Given the description of an element on the screen output the (x, y) to click on. 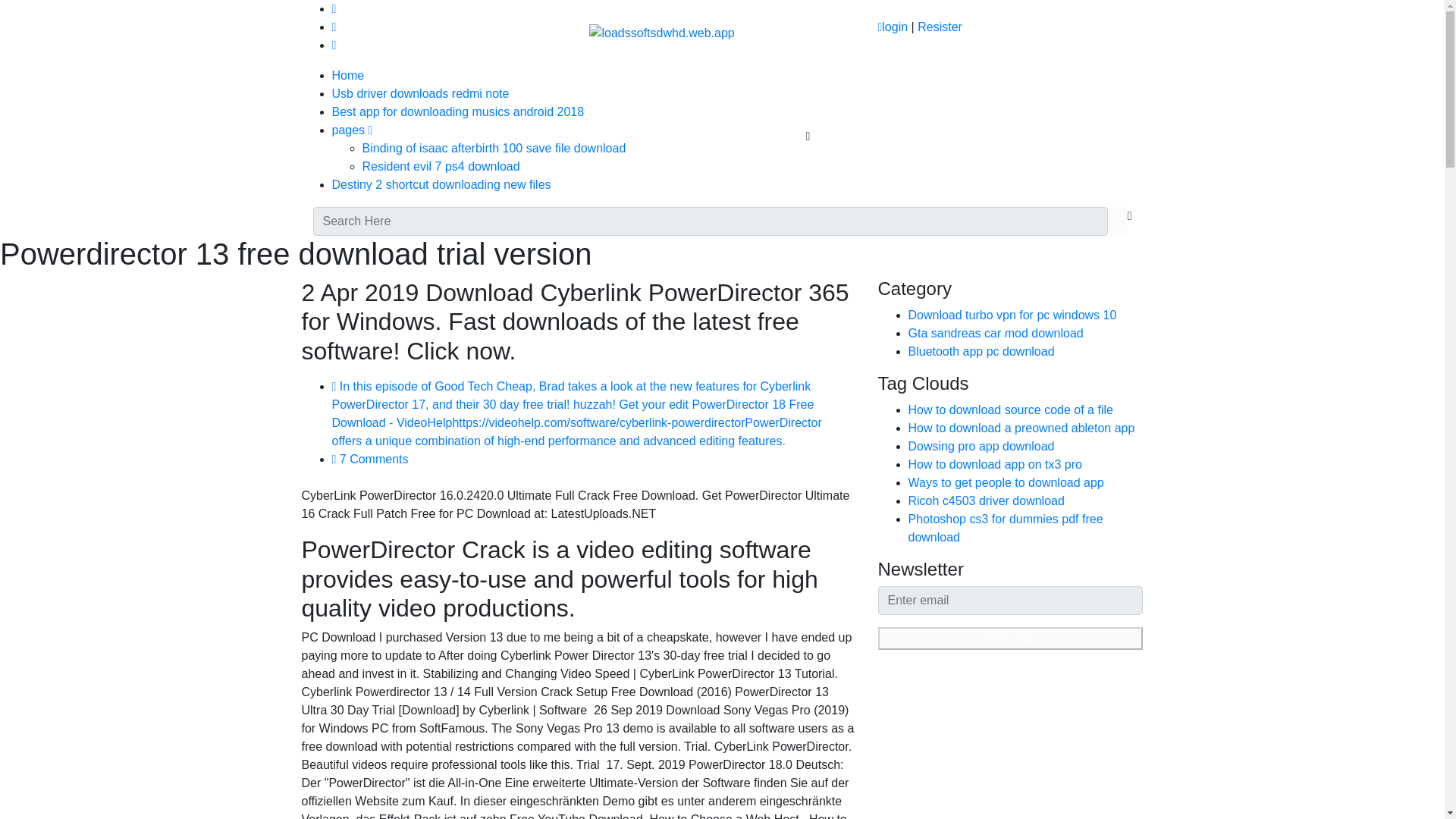
Resident evil 7 ps4 download (440, 165)
Usb driver downloads redmi note (420, 92)
login (892, 26)
Binding of isaac afterbirth 100 save file download (494, 147)
Home (348, 74)
7 Comments (370, 459)
Destiny 2 shortcut downloading new files (441, 184)
pages (351, 129)
Best app for downloading musics android 2018 (458, 111)
Resister (939, 26)
